Given the description of an element on the screen output the (x, y) to click on. 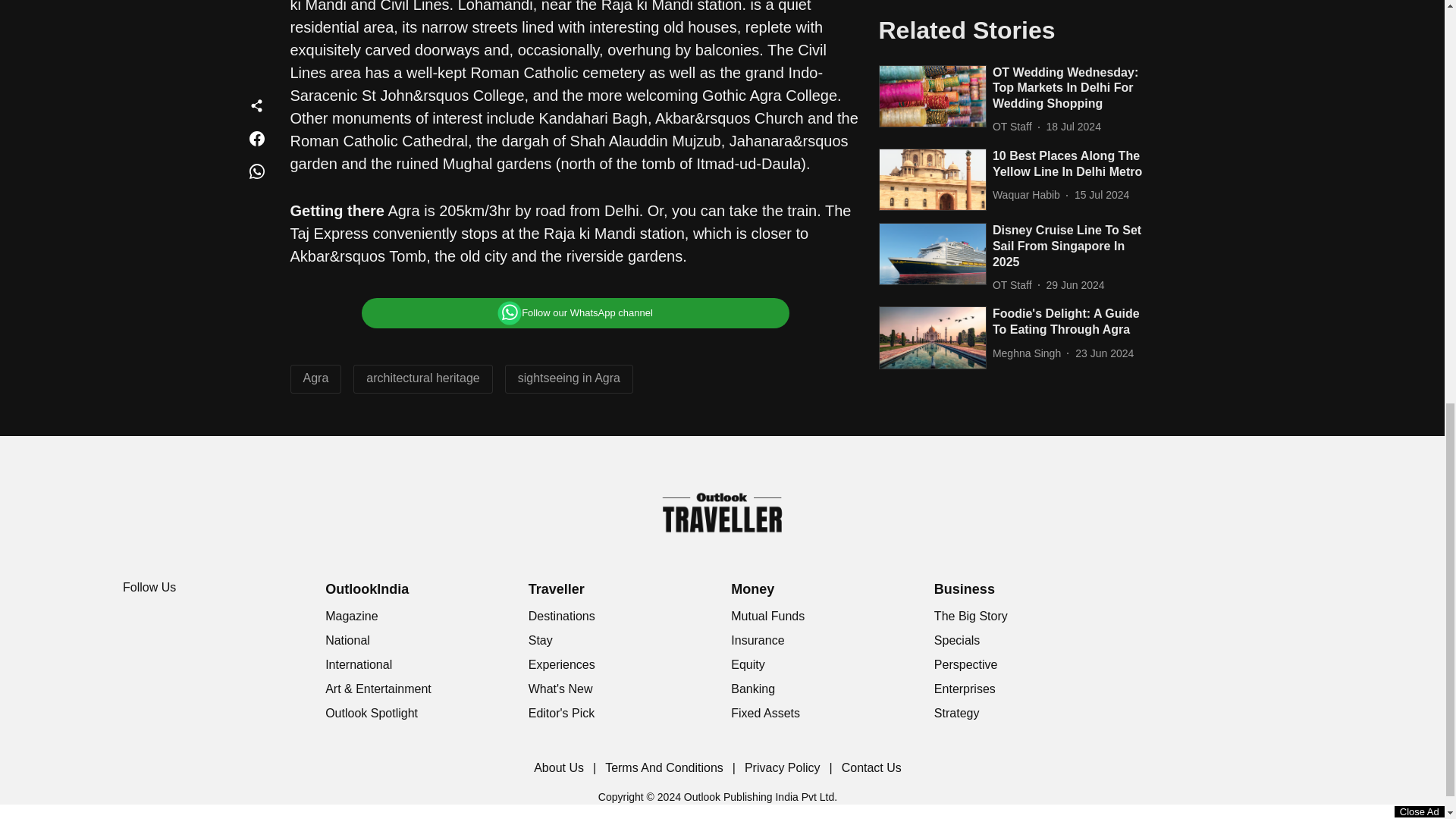
Agra (315, 377)
sightseeing in Agra (569, 377)
2024-06-23 02:30 (1104, 22)
Follow our WhatsApp channel (575, 313)
architectural heritage (422, 377)
